Given the description of an element on the screen output the (x, y) to click on. 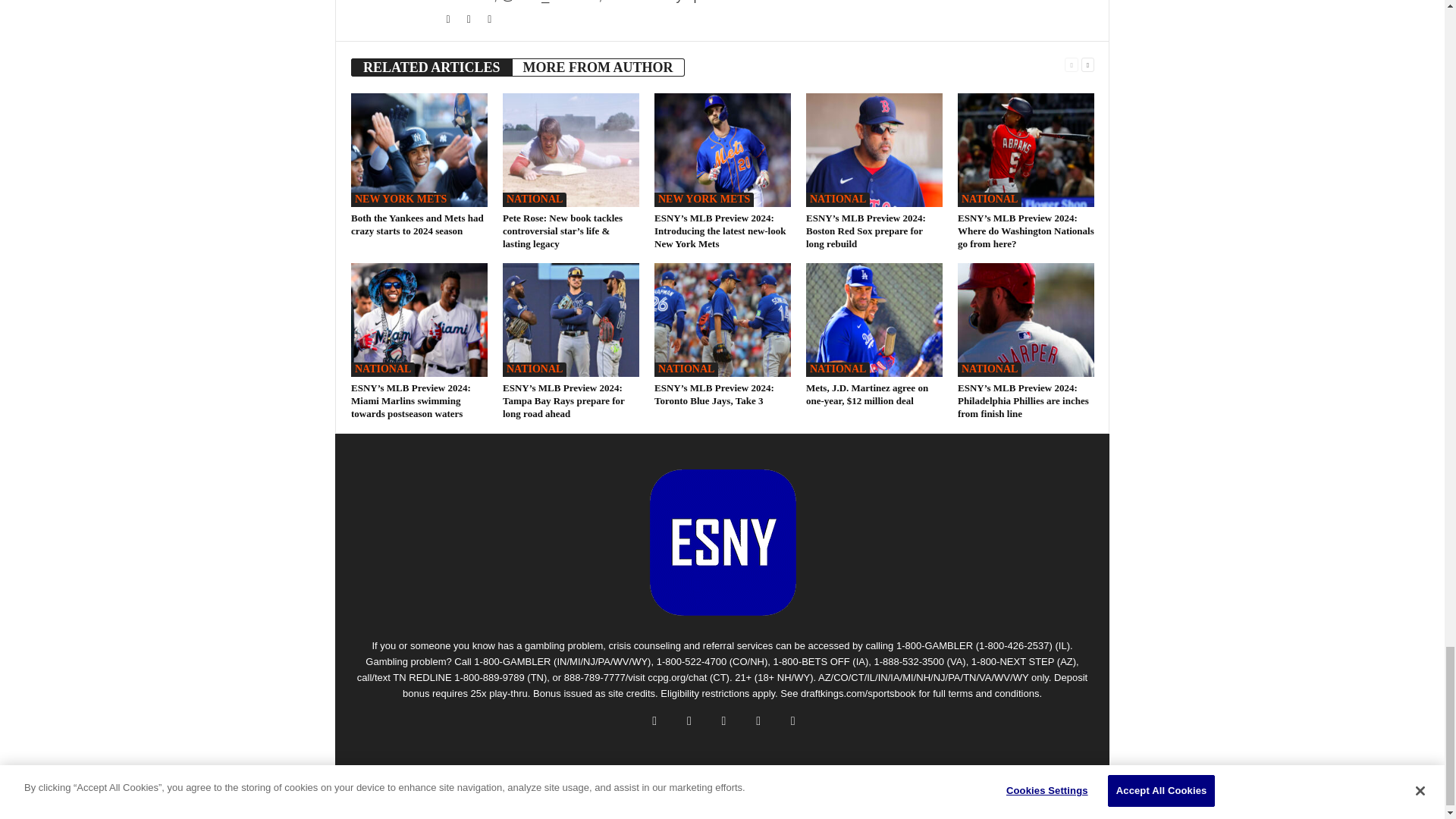
Both the Yankees and Mets had crazy starts to 2024 season (416, 224)
Both the Yankees and Mets had crazy starts to 2024 season (418, 150)
Twitter (449, 19)
Linkedin (489, 19)
Instagram (470, 19)
